Given the description of an element on the screen output the (x, y) to click on. 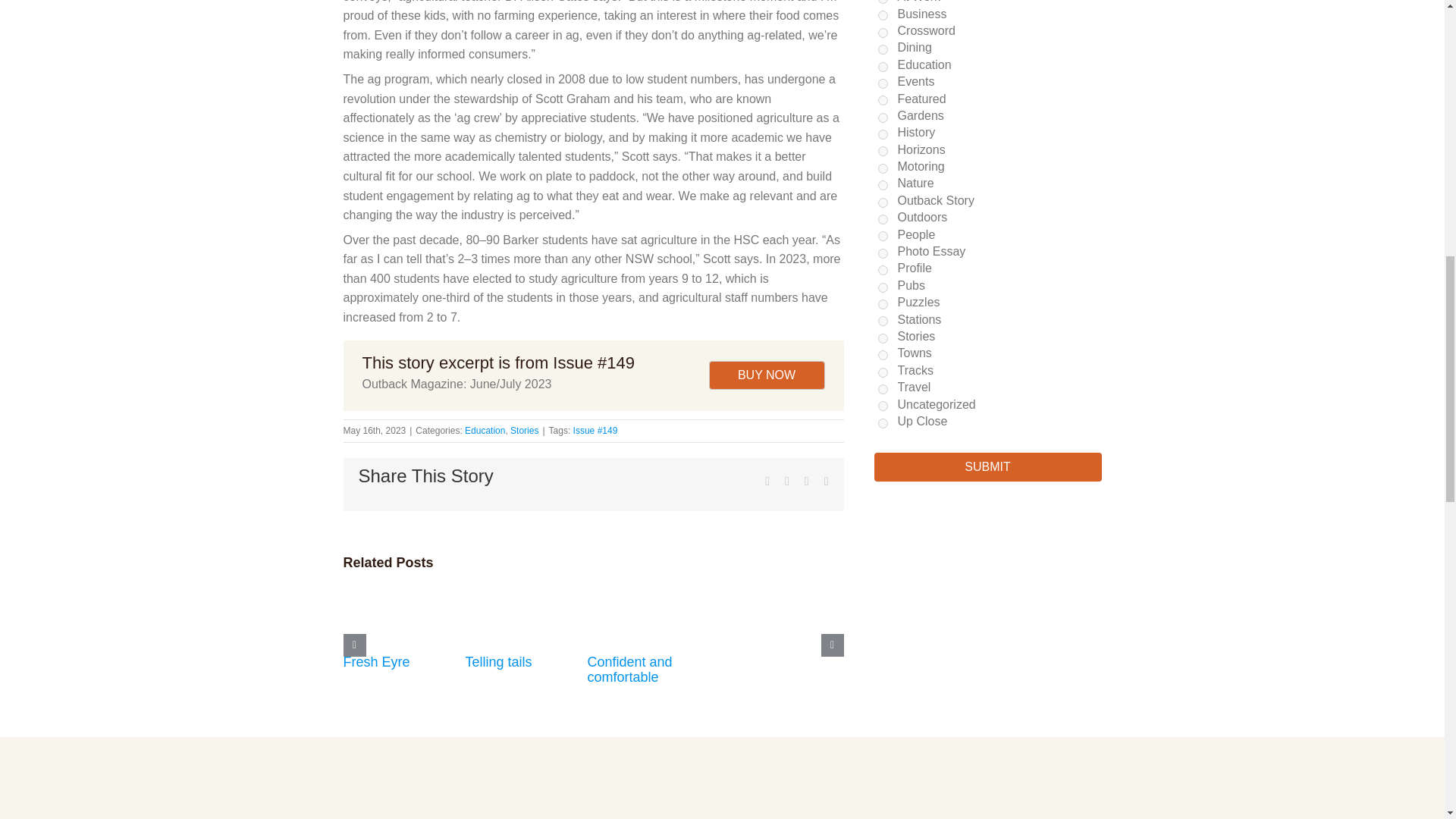
Fresh Eyre (375, 661)
people (882, 235)
dining (882, 49)
events (882, 83)
gardens (882, 117)
horizons (882, 151)
BUY NOW (765, 375)
featured (882, 100)
outback-story (882, 203)
Telling tails (498, 661)
